Given the description of an element on the screen output the (x, y) to click on. 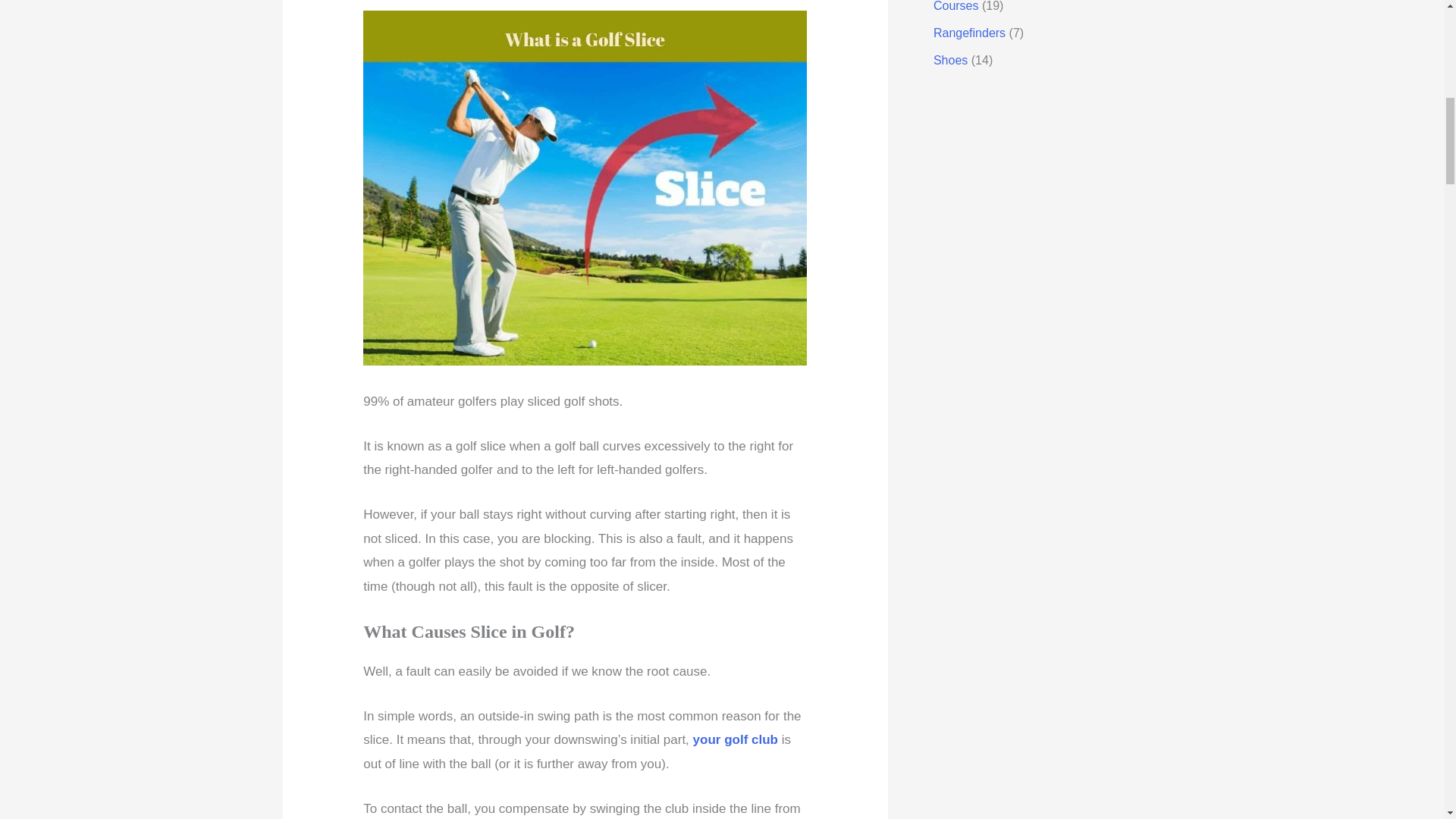
your golf club (735, 739)
